Given the description of an element on the screen output the (x, y) to click on. 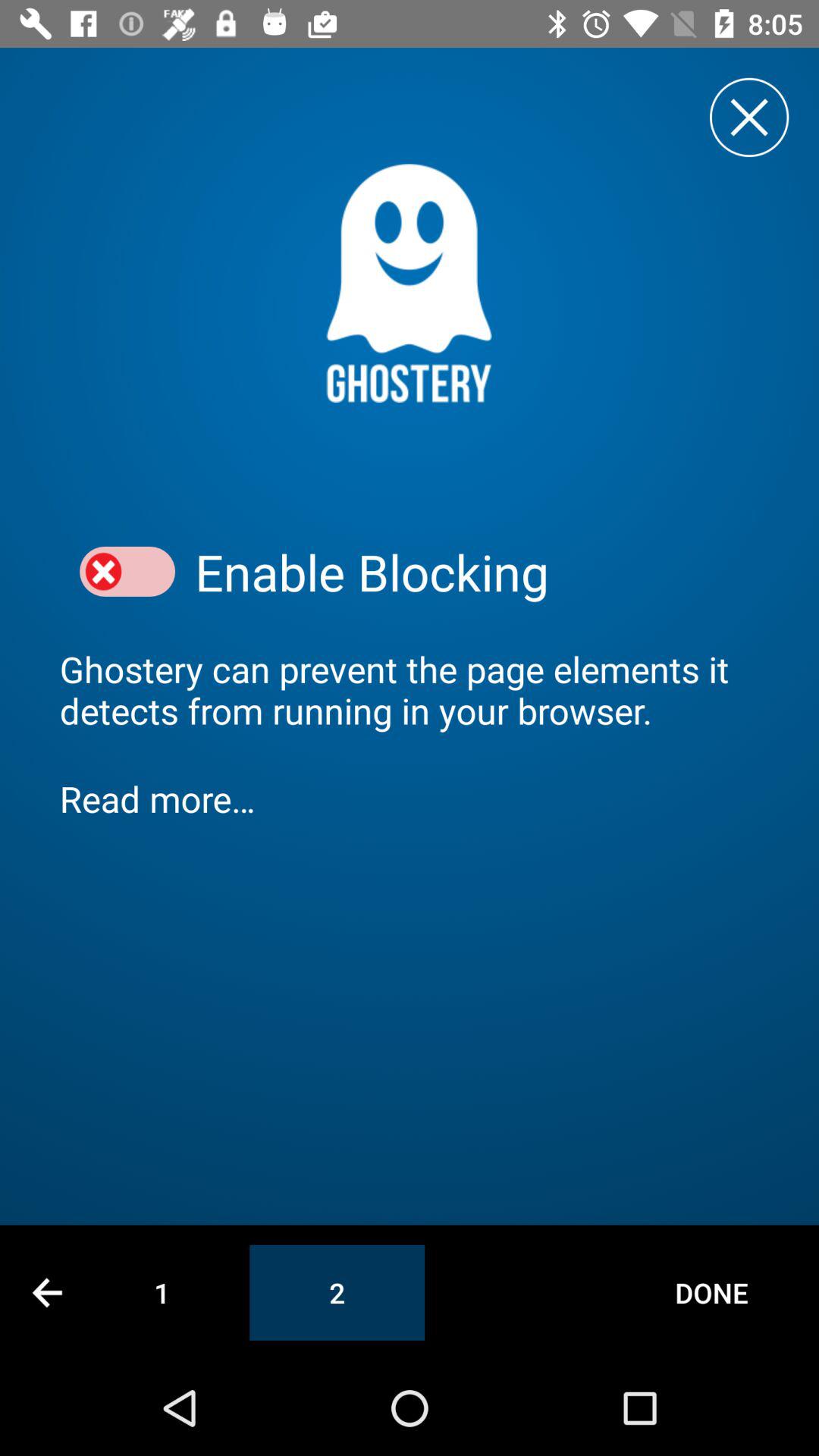
open the item next to 1 item (336, 1292)
